Given the description of an element on the screen output the (x, y) to click on. 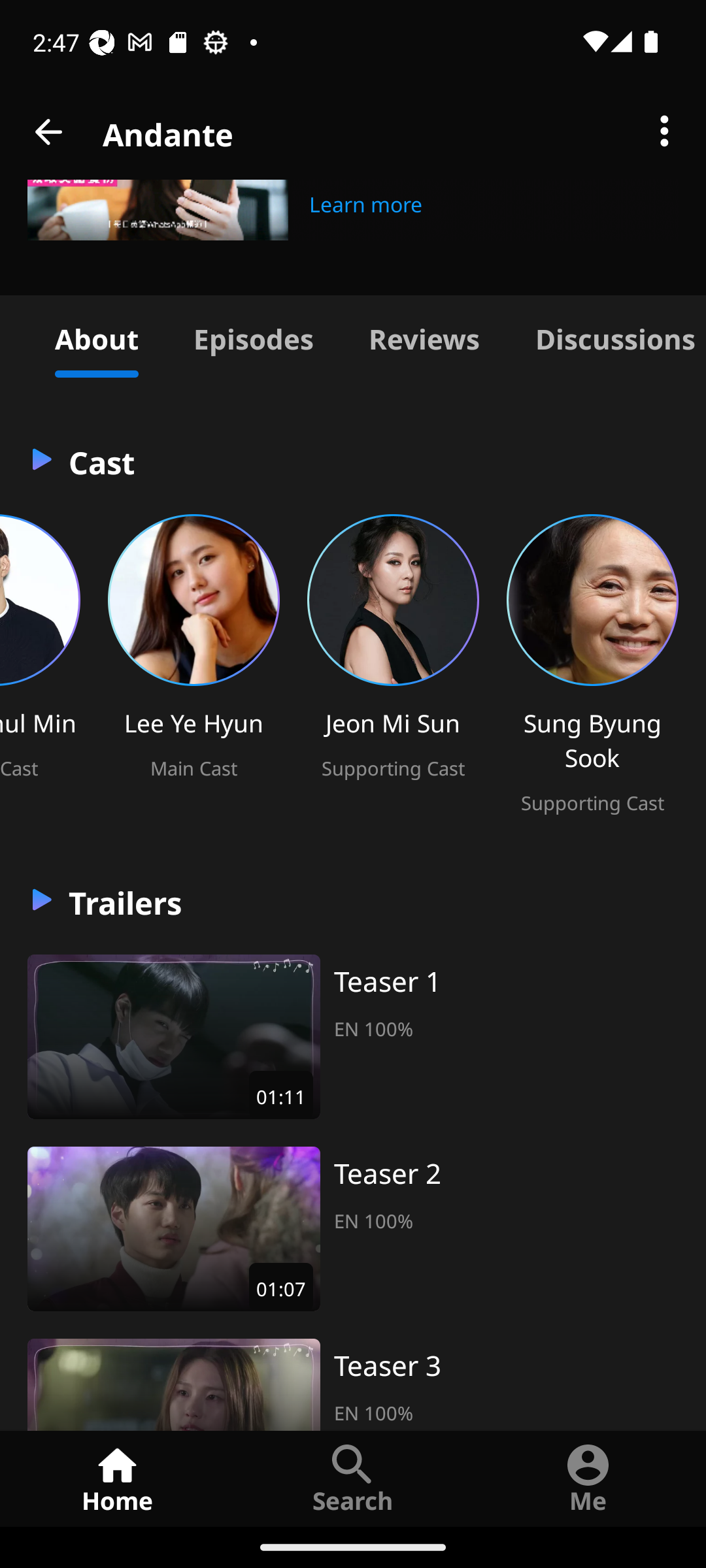
More (664, 131)
Learn more (365, 202)
Episodes (252, 335)
Reviews (423, 335)
Discussions (606, 335)
Search (352, 1478)
Me (588, 1478)
